Given the description of an element on the screen output the (x, y) to click on. 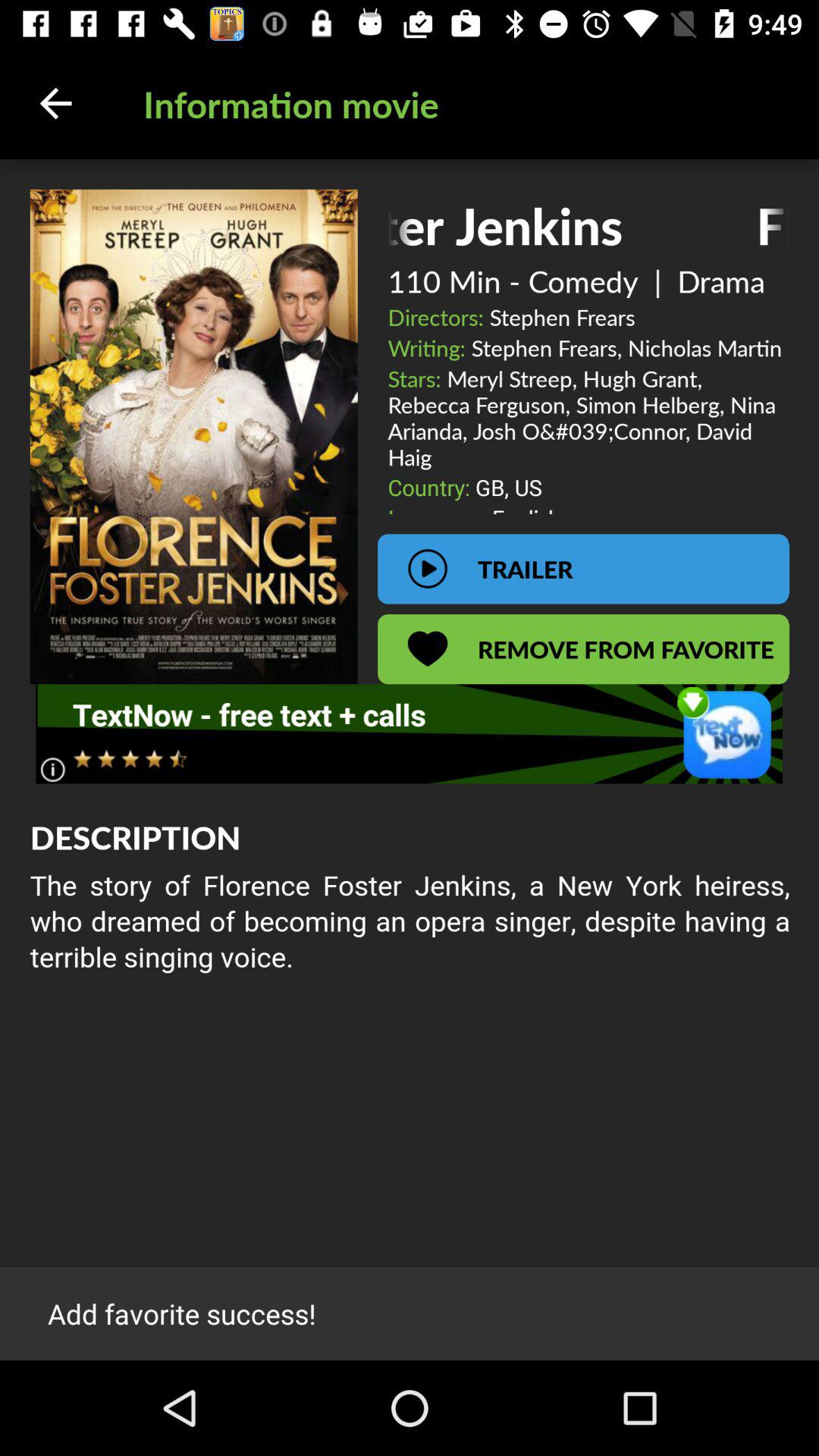
go to advertisements website (408, 733)
